Given the description of an element on the screen output the (x, y) to click on. 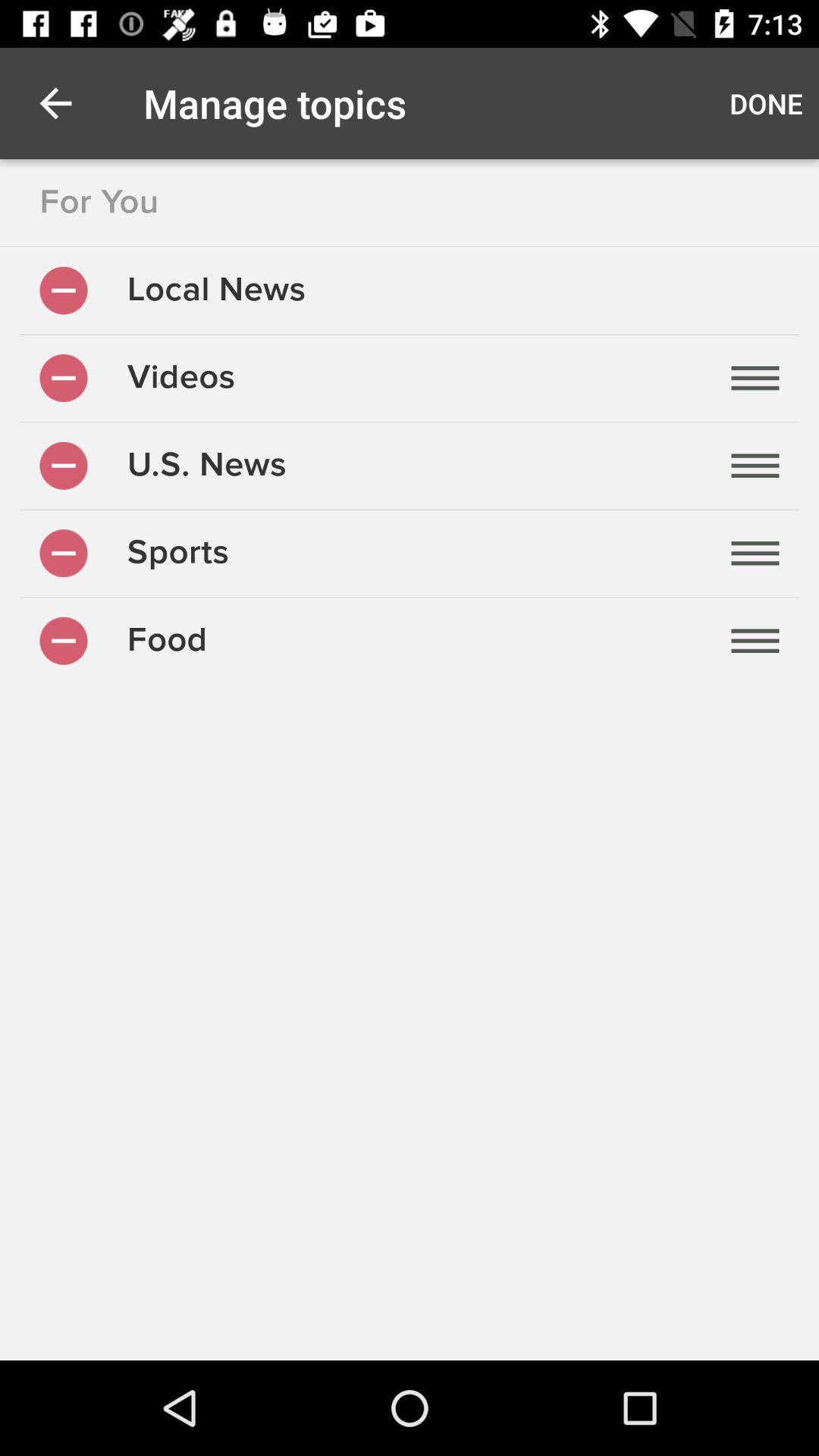
remove u.s news (63, 465)
